Given the description of an element on the screen output the (x, y) to click on. 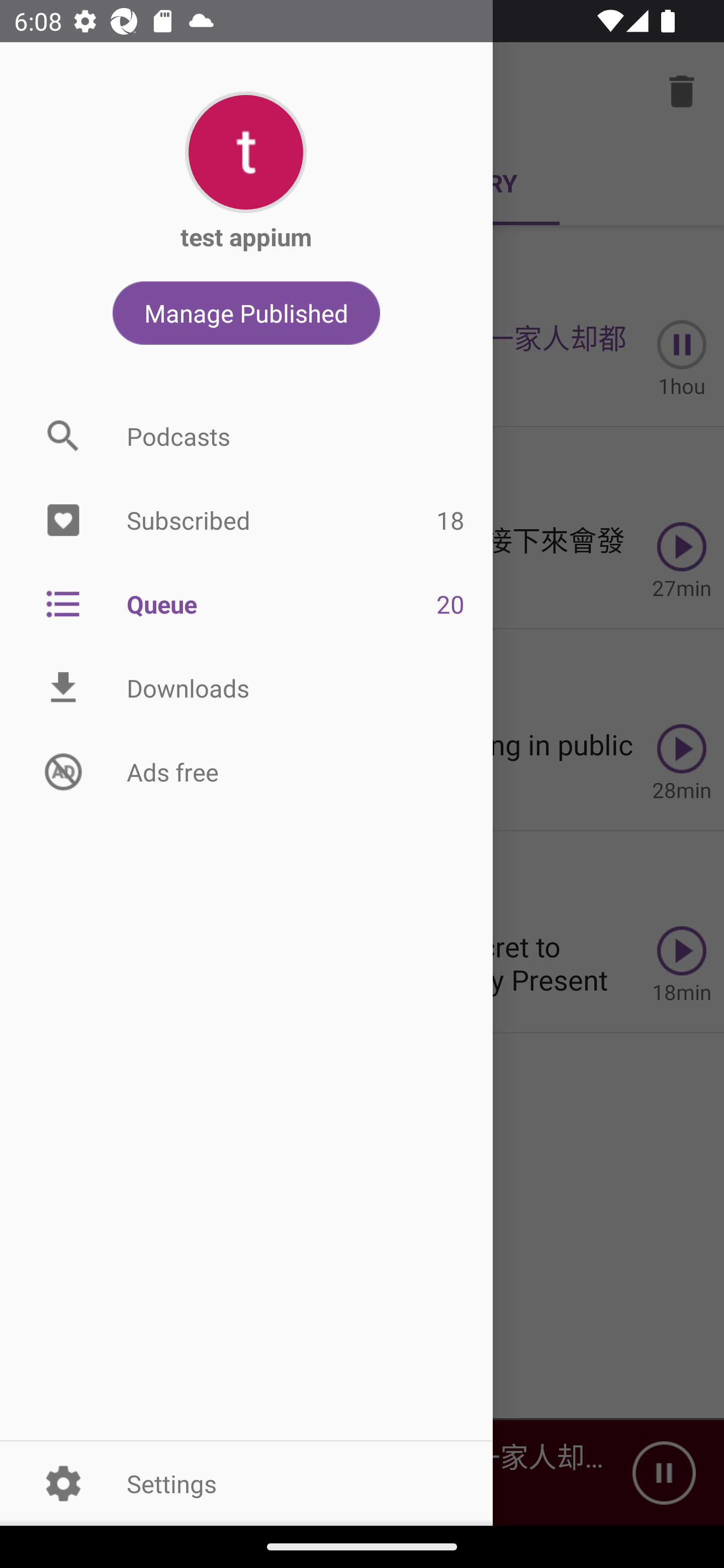
Manage Published (246, 312)
Picture Podcasts (246, 435)
Picture Subscribed 18 (246, 520)
Picture Queue 20 (246, 603)
Picture Downloads (246, 688)
Picture Ads free (246, 771)
Settings Picture Settings (246, 1482)
